Given the description of an element on the screen output the (x, y) to click on. 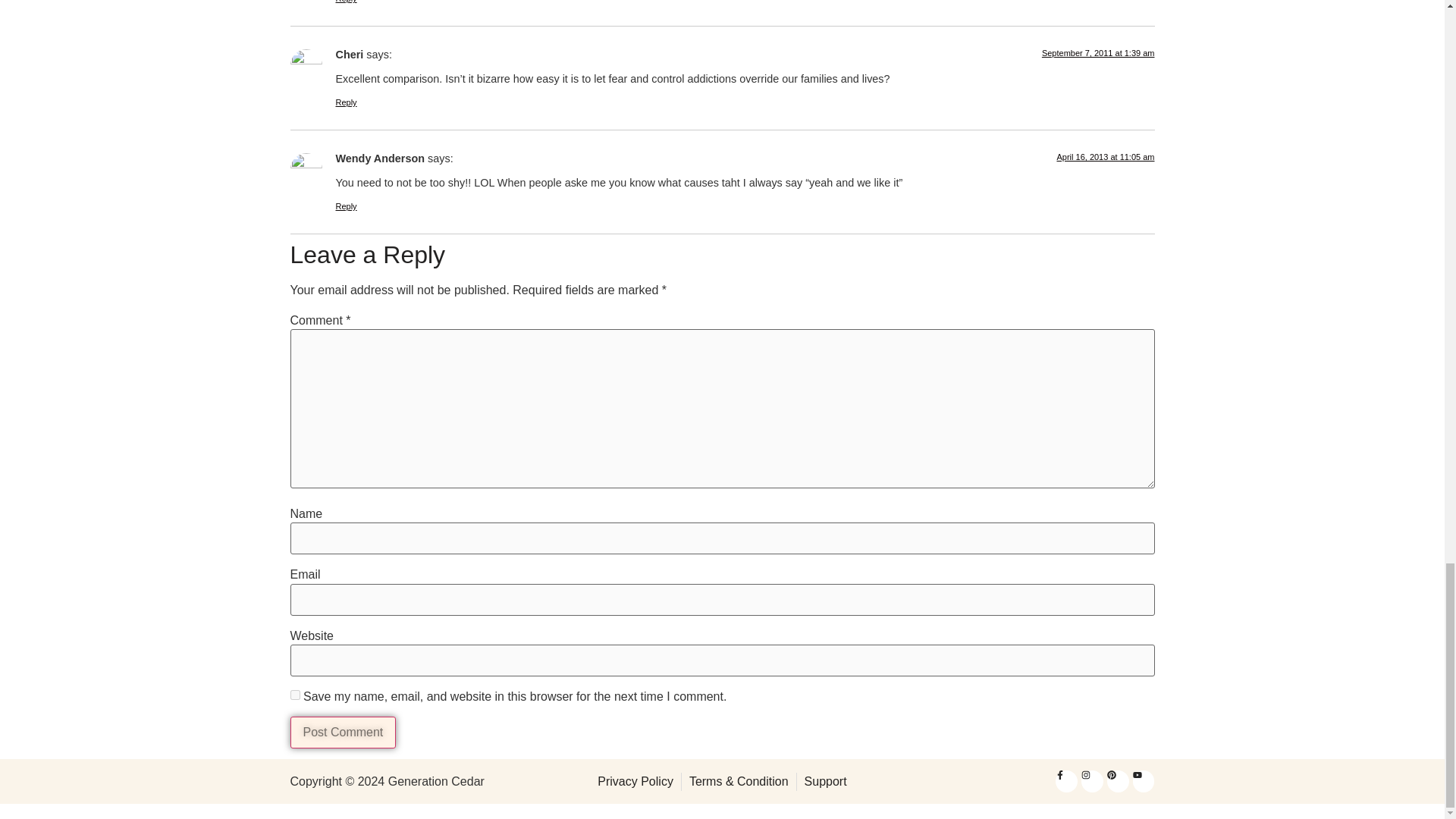
Post Comment (342, 732)
yes (294, 695)
